Given the description of an element on the screen output the (x, y) to click on. 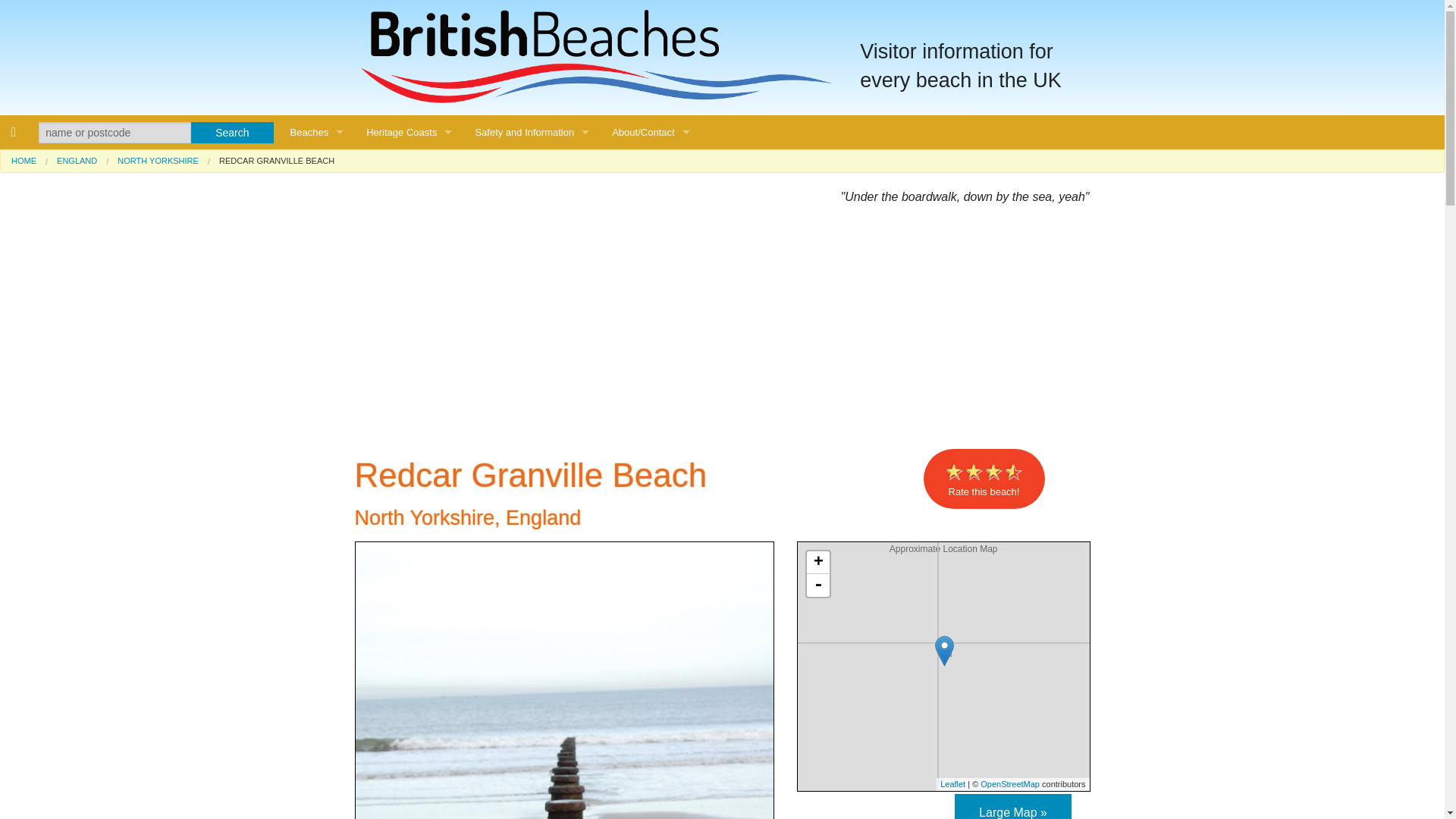
A JS library for interactive maps (952, 783)
Beach Cottages (317, 507)
Zoom in (817, 562)
Best Beaches (317, 200)
Safety and Information (531, 132)
Sea Temperatures (531, 234)
Isle of Man (317, 473)
Beach Safety (531, 166)
The Beaufort Scale (531, 200)
Search (231, 132)
Beach Finder (317, 268)
Channel Islands (317, 439)
Award-Winning Beaches (317, 234)
Heritage Coasts (409, 132)
England (317, 302)
